Given the description of an element on the screen output the (x, y) to click on. 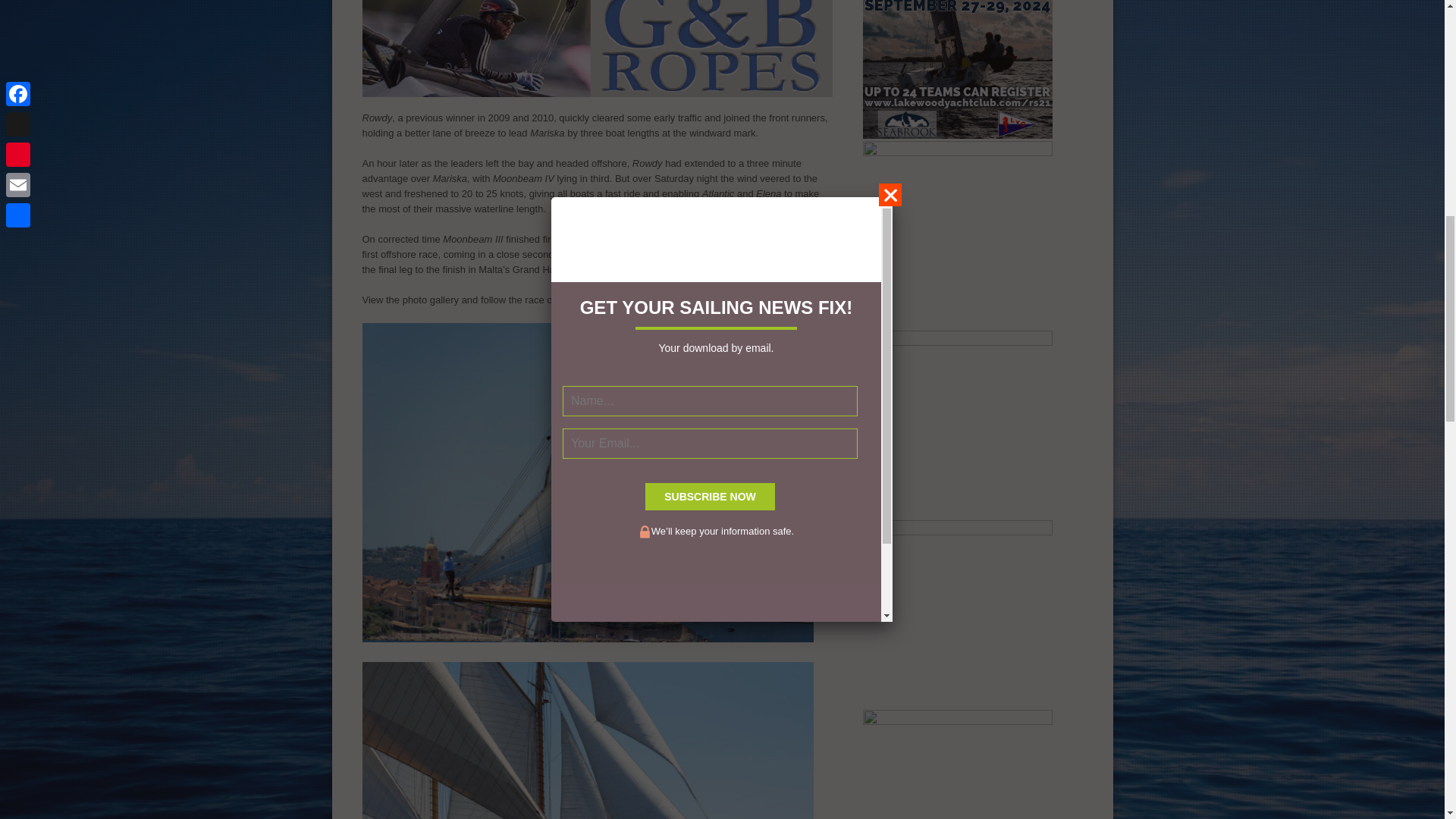
event website (736, 299)
Facebook (582, 299)
